Given the description of an element on the screen output the (x, y) to click on. 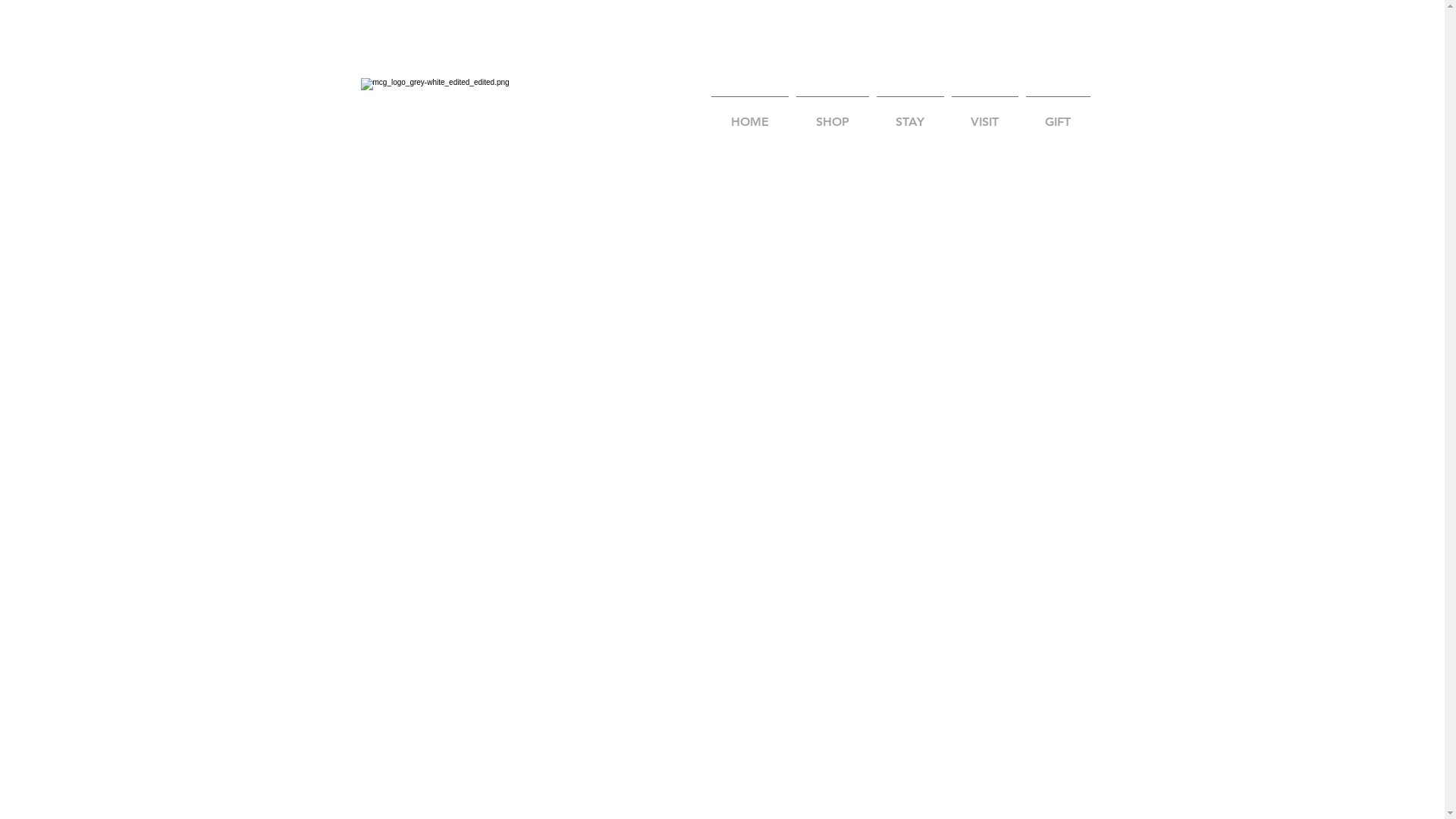
STAY Element type: text (909, 115)
GIFT Element type: text (1058, 115)
SHOP Element type: text (831, 115)
HOME Element type: text (748, 115)
VISIT Element type: text (984, 115)
